Given the description of an element on the screen output the (x, y) to click on. 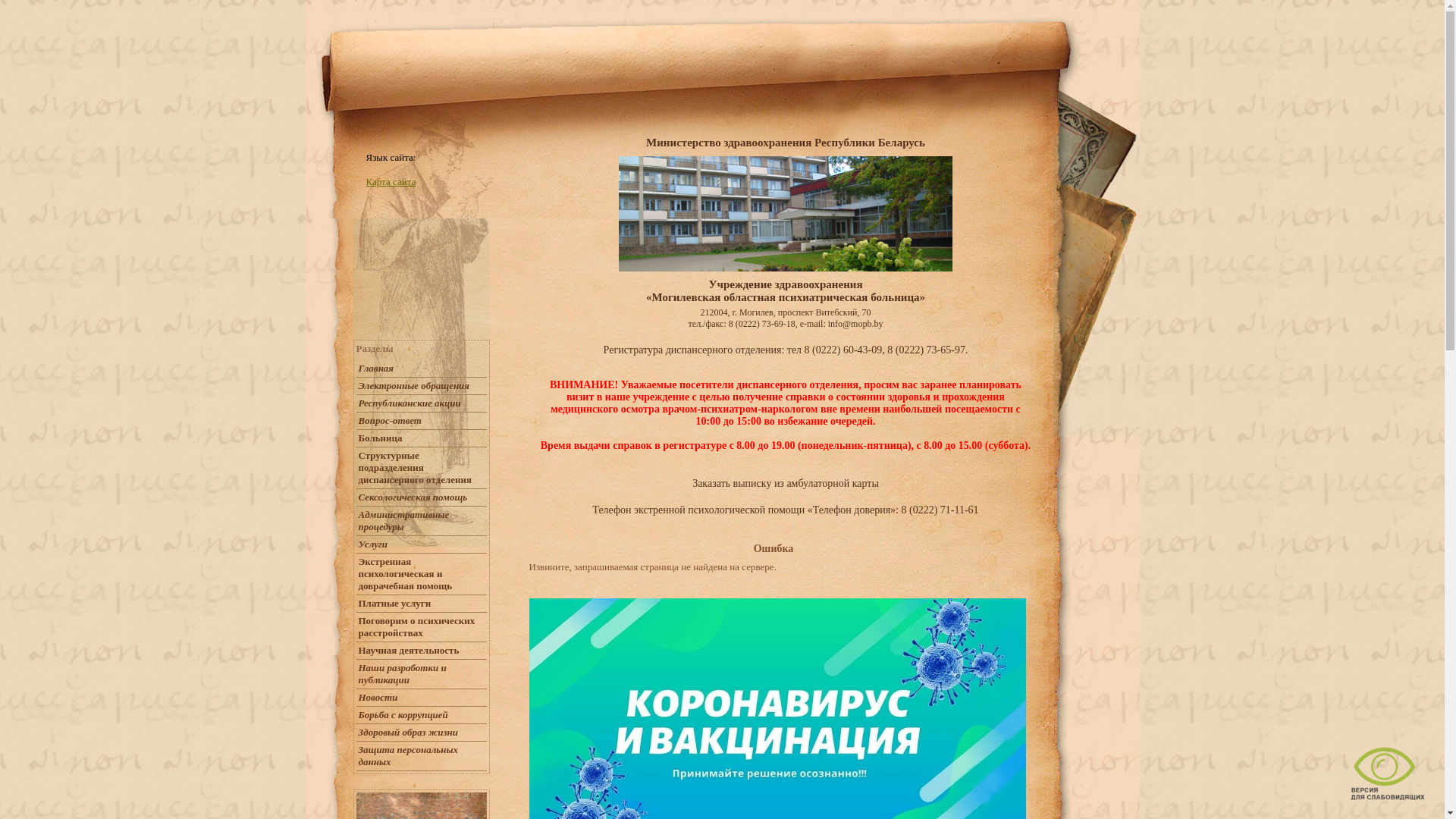
info@mopb.by Element type: text (855, 323)
